Given the description of an element on the screen output the (x, y) to click on. 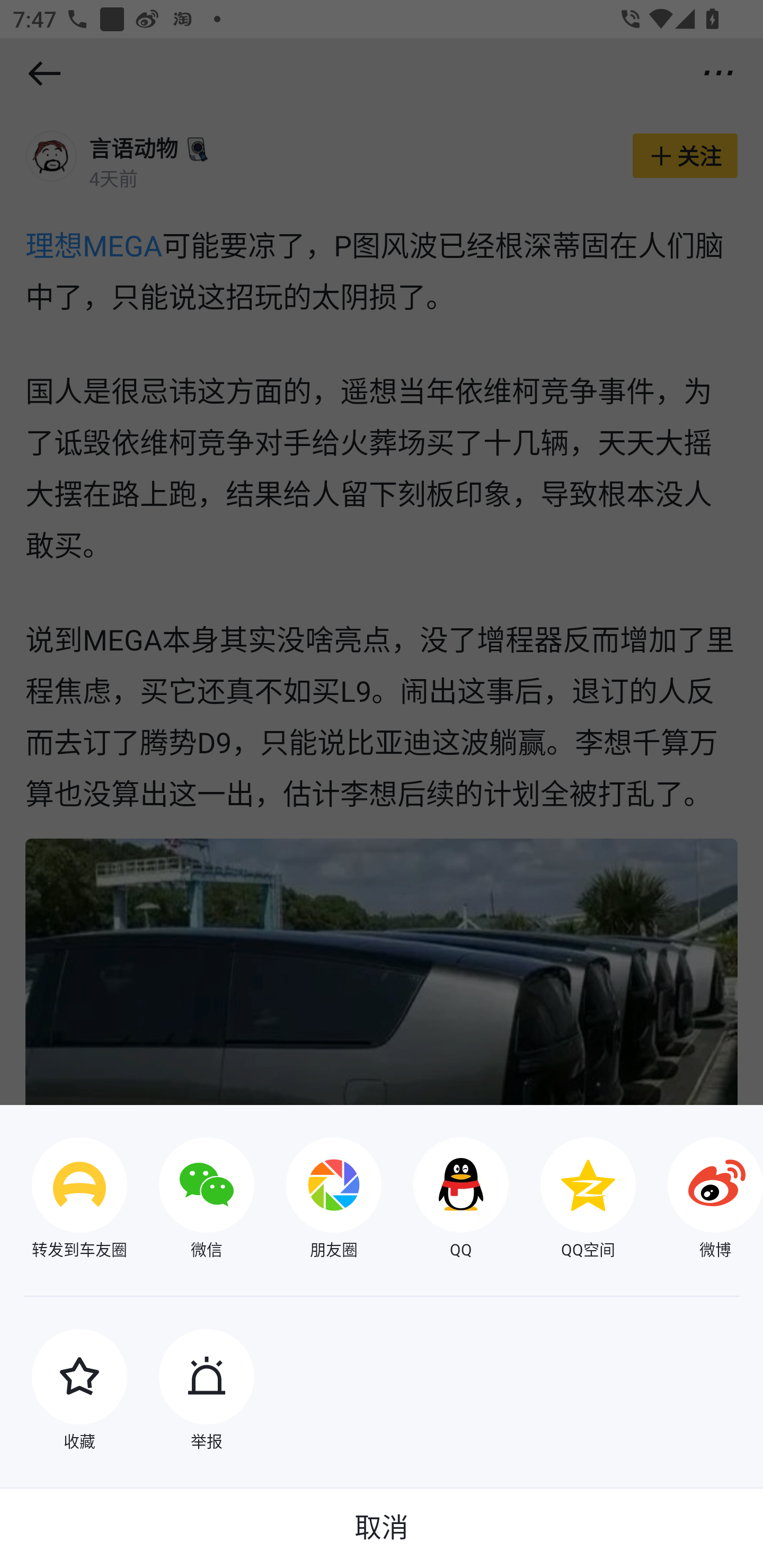
转发到车友圈 (63, 1200)
微信 (190, 1200)
朋友圈 (317, 1200)
QQ (444, 1200)
QQ空间 (571, 1200)
微博 (699, 1200)
收藏 (63, 1392)
 举报 (190, 1392)
取消 (381, 1528)
